Given the description of an element on the screen output the (x, y) to click on. 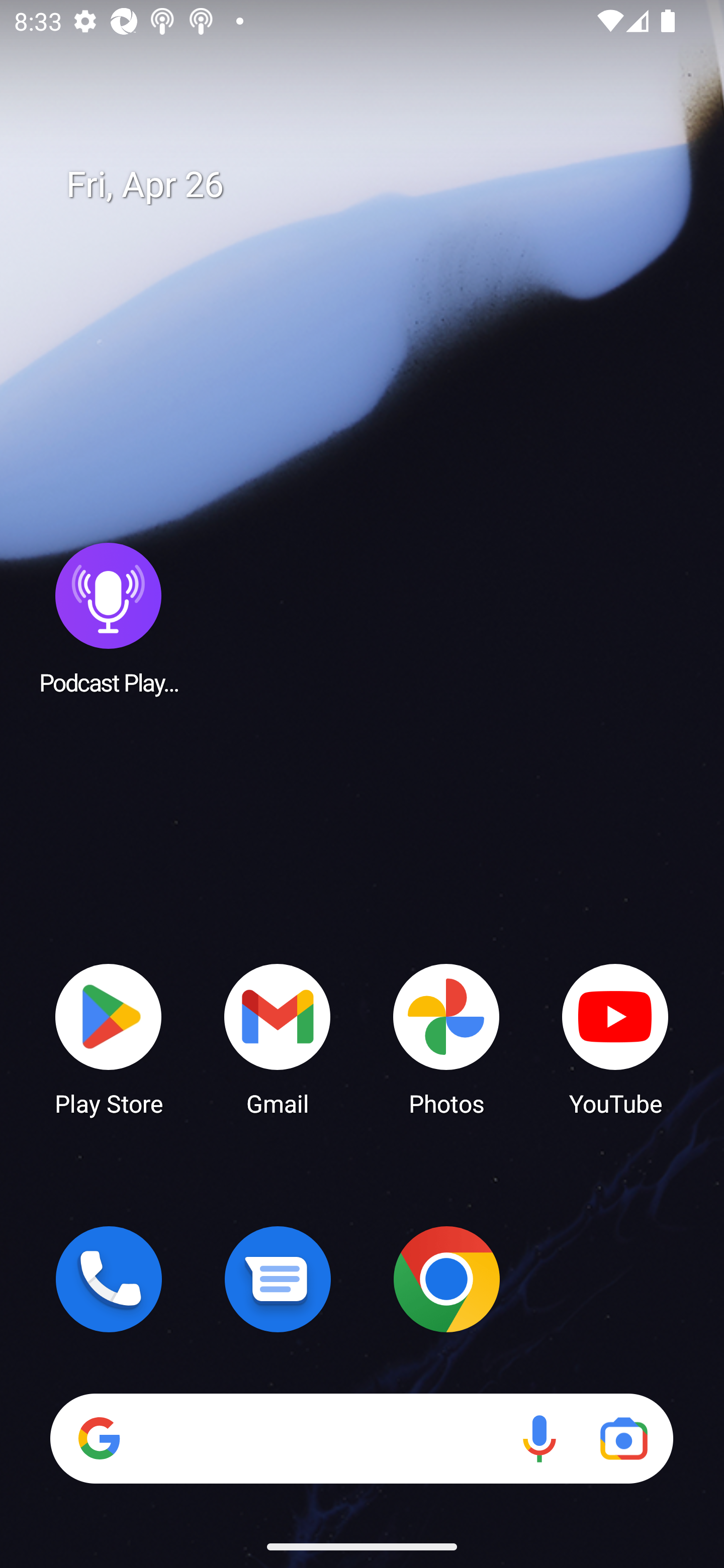
Fri, Apr 26 (375, 184)
Podcast Player (108, 617)
Play Store (108, 1038)
Gmail (277, 1038)
Photos (445, 1038)
YouTube (615, 1038)
Phone (108, 1279)
Messages (277, 1279)
Chrome (446, 1279)
Search Voice search Google Lens (361, 1438)
Voice search (539, 1438)
Google Lens (623, 1438)
